Given the description of an element on the screen output the (x, y) to click on. 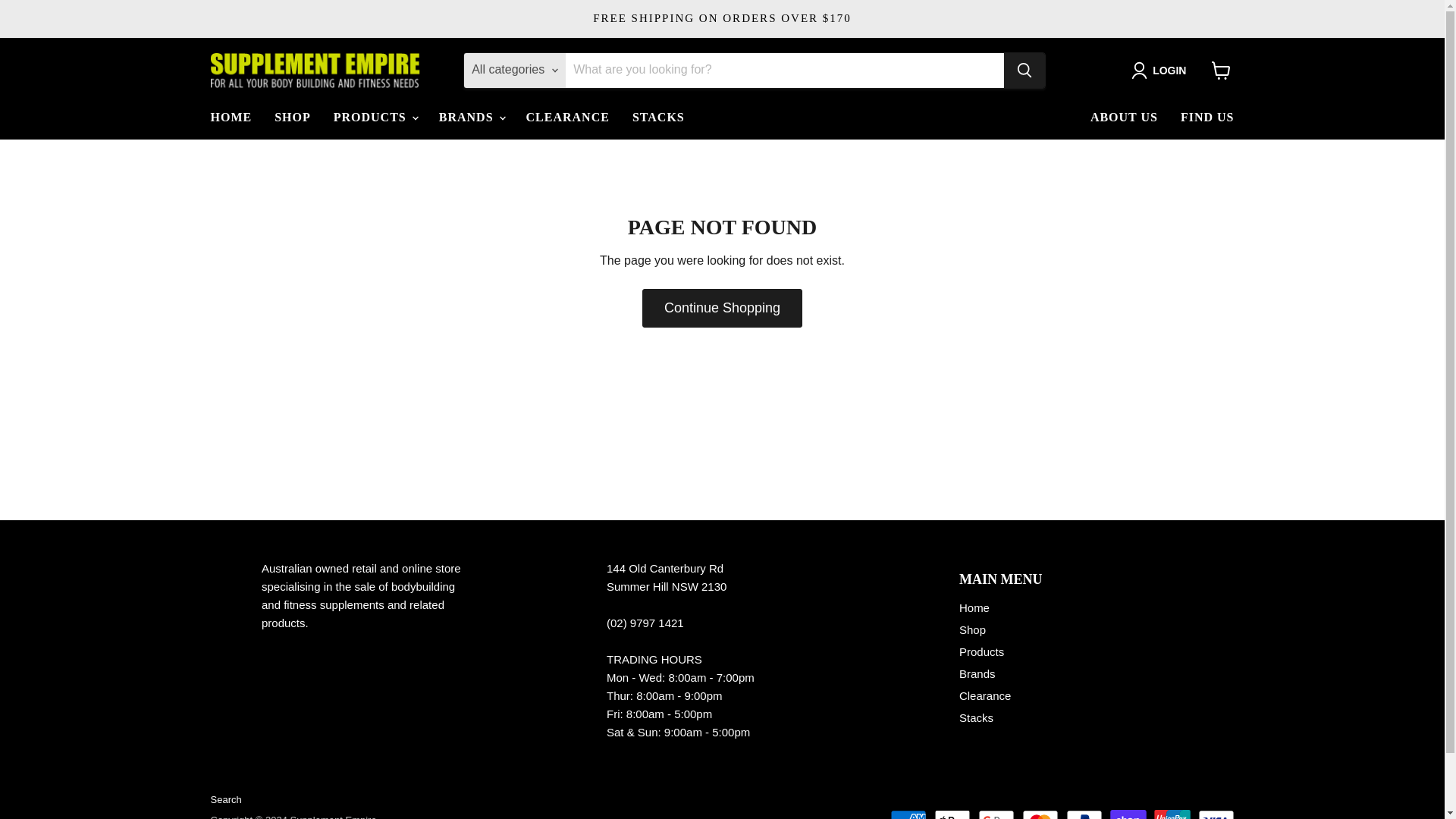
Visa (1216, 814)
LOGIN (1161, 70)
American Express (907, 814)
Shop Pay (1128, 814)
View cart (1221, 70)
Union Pay (1172, 814)
SHOP (292, 117)
Mastercard (1040, 814)
Google Pay (996, 814)
HOME (230, 117)
Apple Pay (952, 814)
PayPal (1083, 814)
